Given the description of an element on the screen output the (x, y) to click on. 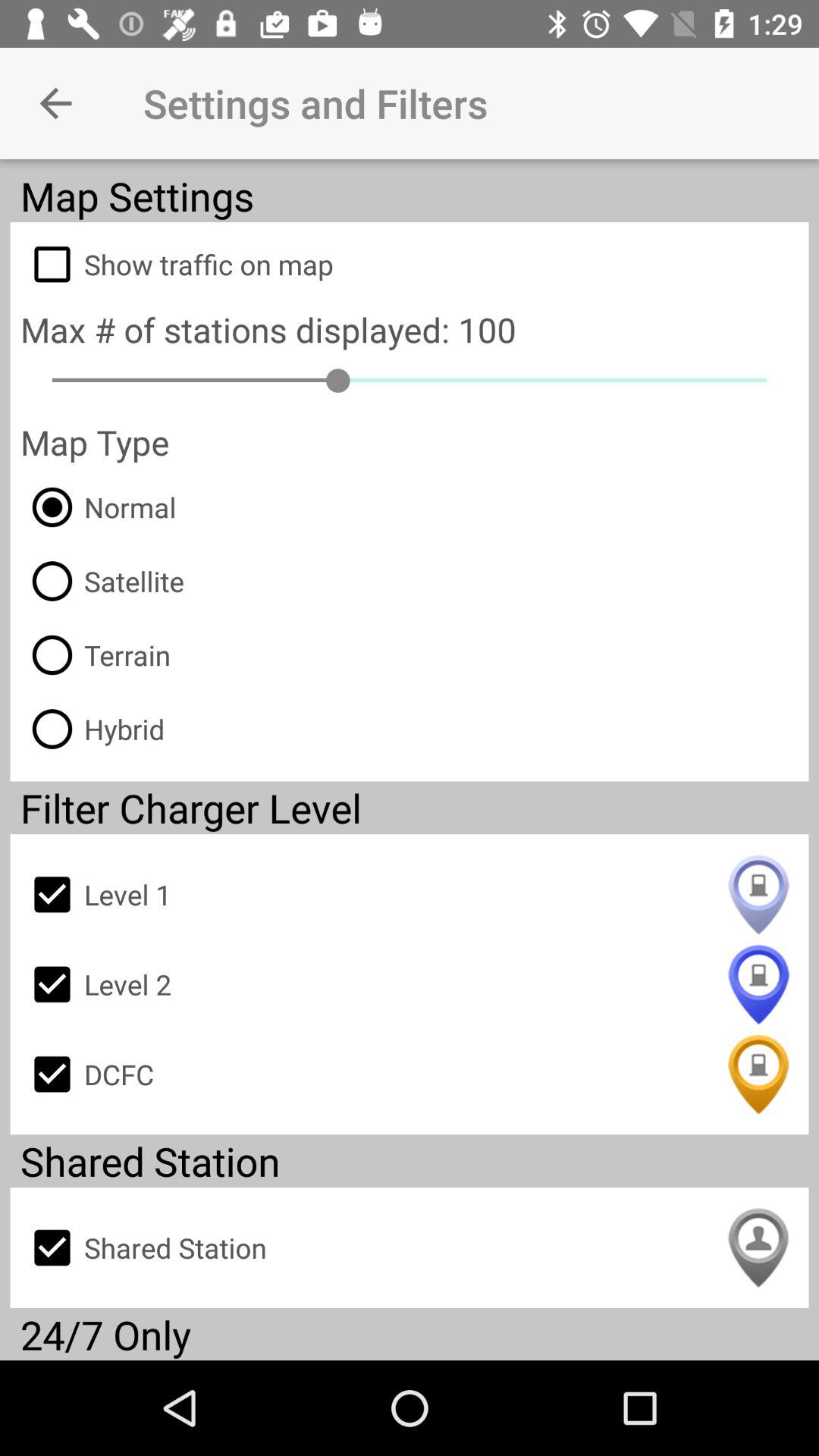
press icon above the shared station icon (409, 1074)
